Given the description of an element on the screen output the (x, y) to click on. 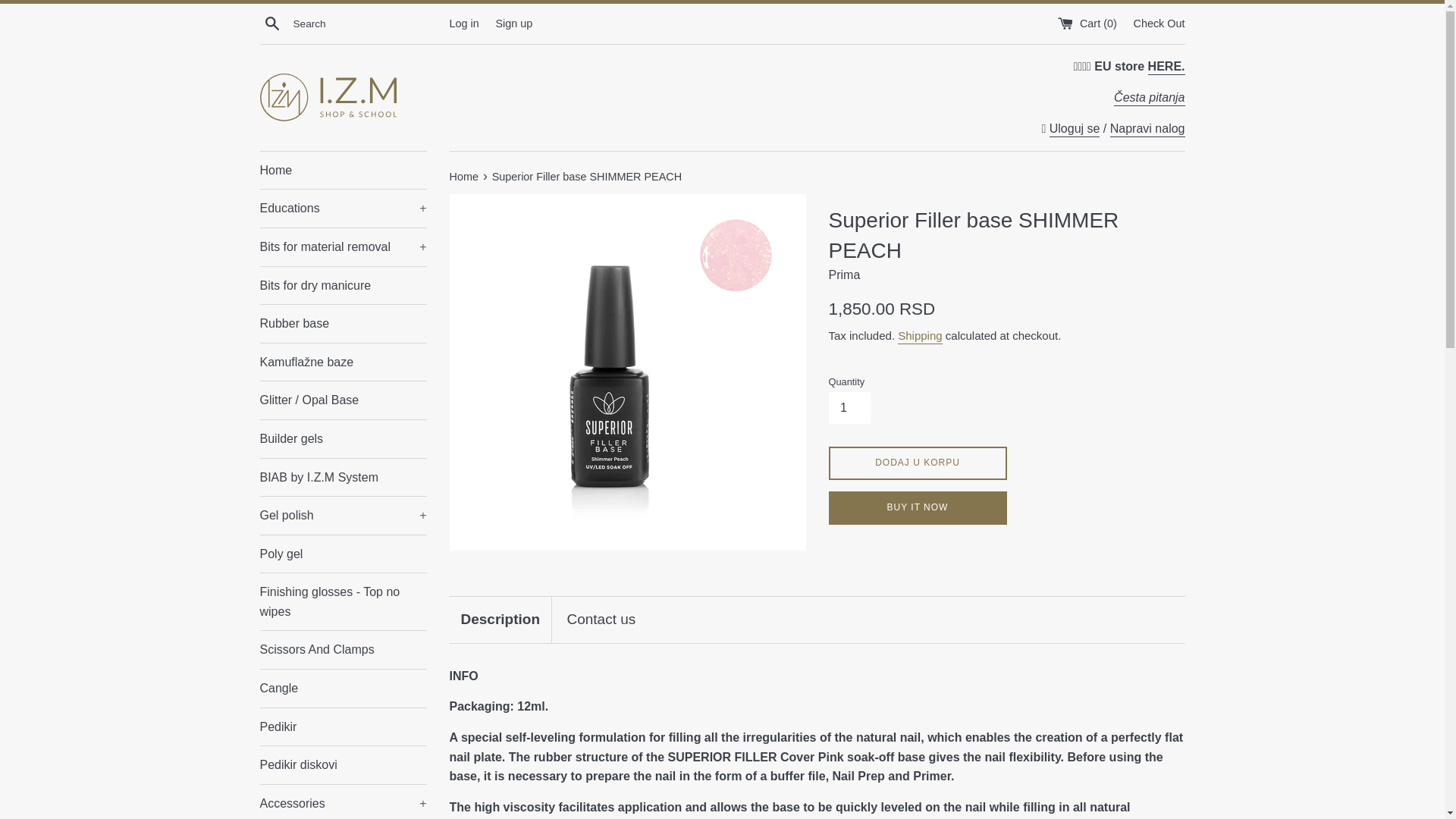
Bits for dry manicure (342, 285)
Sign up (513, 22)
Home (342, 170)
Log in (463, 22)
HERE. (1166, 67)
Check Out (1159, 22)
Search (271, 22)
Back to the frontpage (464, 176)
Builder gels (342, 438)
Napravi nalog (1147, 129)
1 (848, 408)
Uloguj se (1074, 129)
Rubber base (342, 323)
BIAB by I.Z.M System (342, 476)
